Given the description of an element on the screen output the (x, y) to click on. 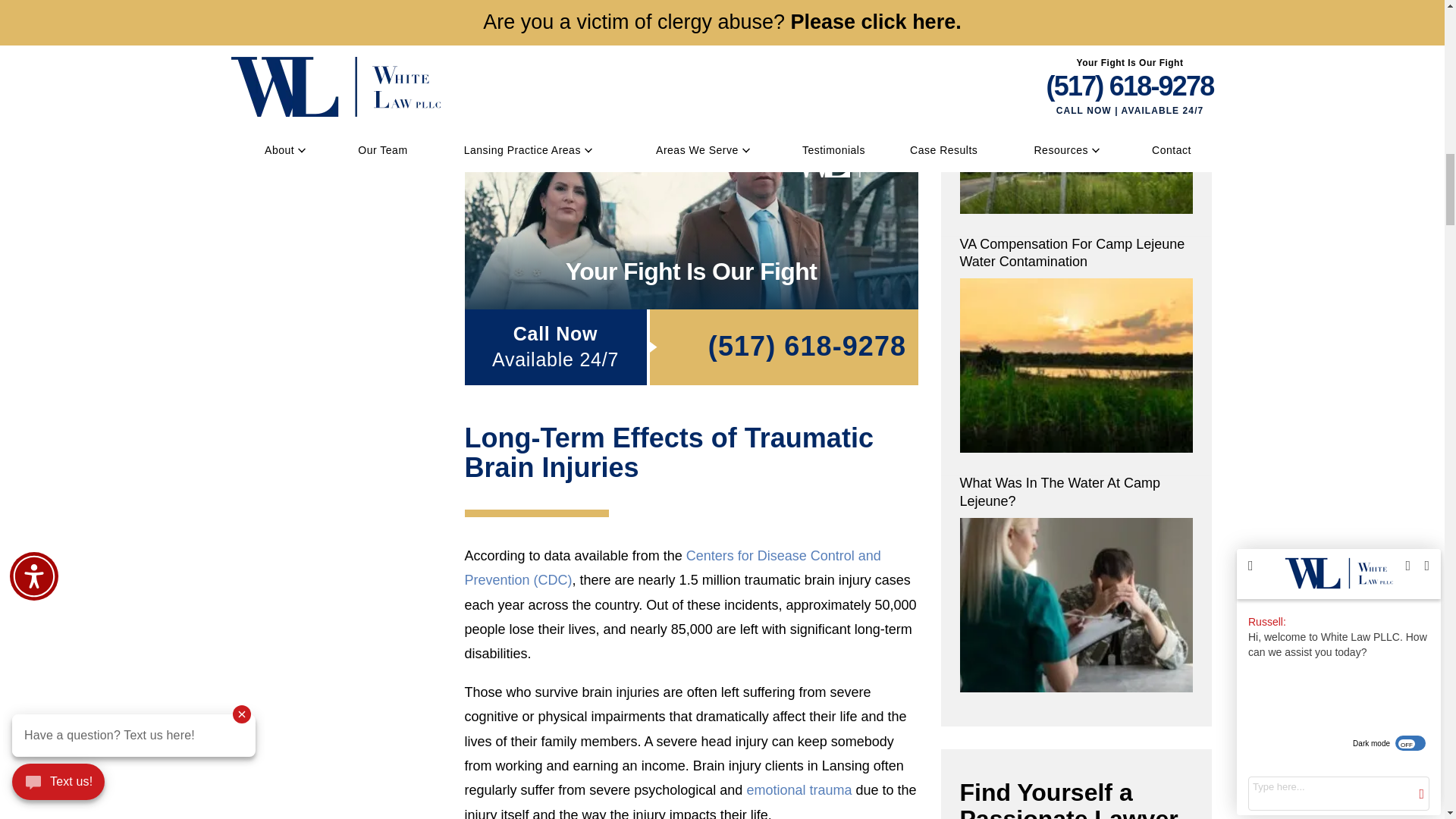
White Law - PLLC (847, 157)
Call to White Law - PLLC (783, 347)
